Given the description of an element on the screen output the (x, y) to click on. 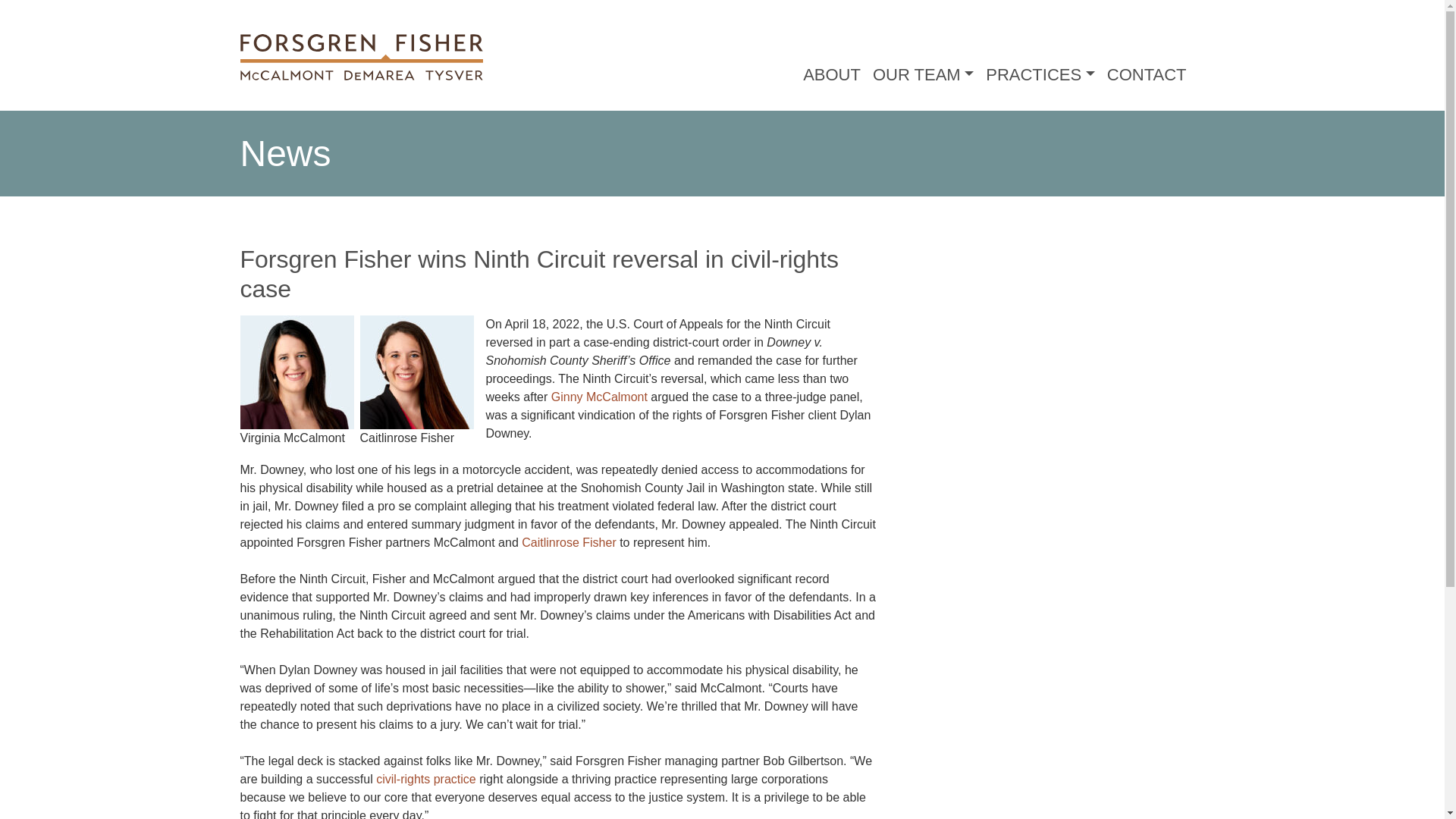
ABOUT (831, 74)
OUR TEAM (922, 74)
PRACTICES (1039, 74)
